Given the description of an element on the screen output the (x, y) to click on. 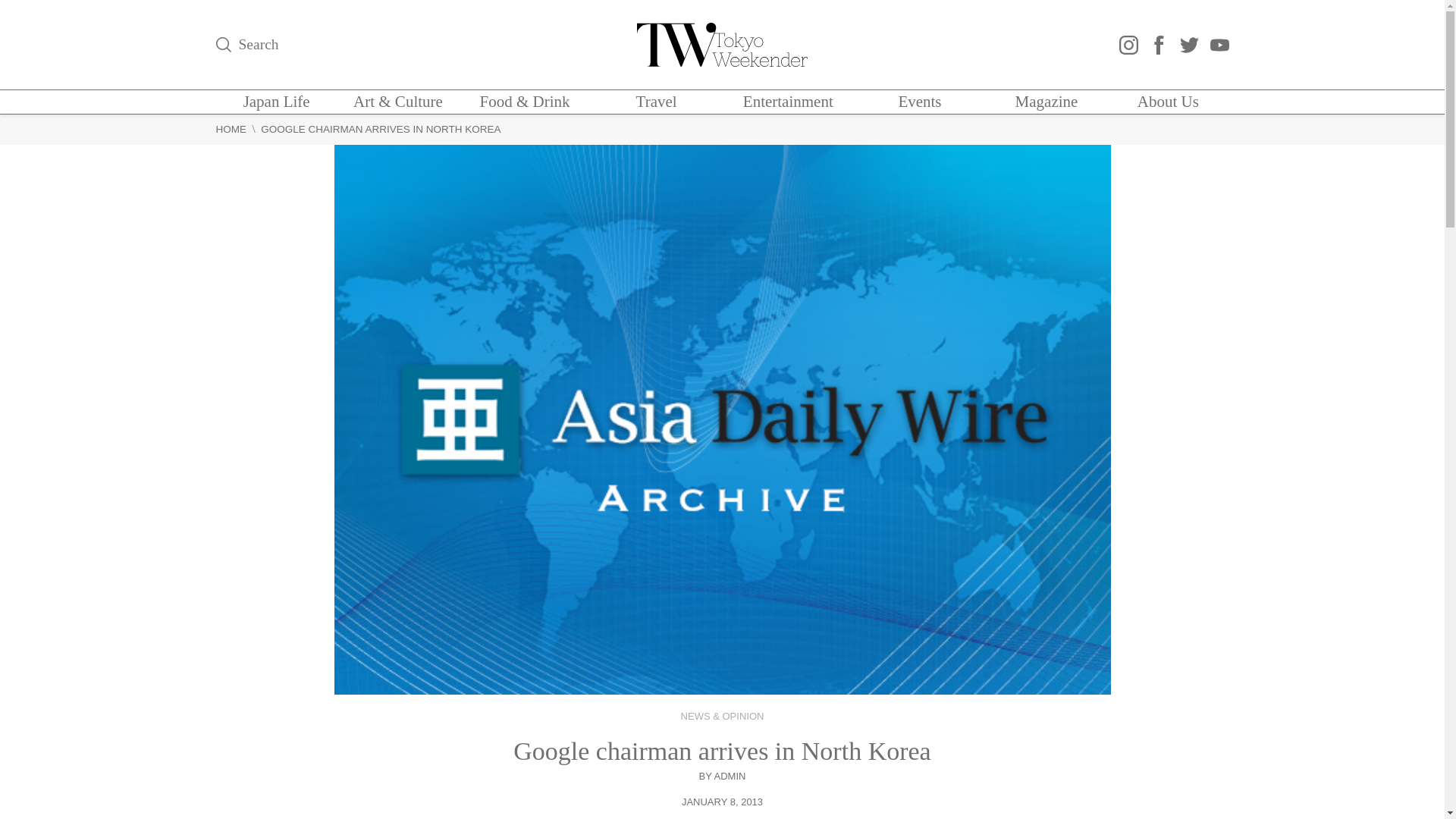
Entertainment (787, 101)
Magazine (1046, 101)
About Us (1167, 101)
Travel (656, 101)
Japan Life (276, 101)
Events (919, 101)
